Given the description of an element on the screen output the (x, y) to click on. 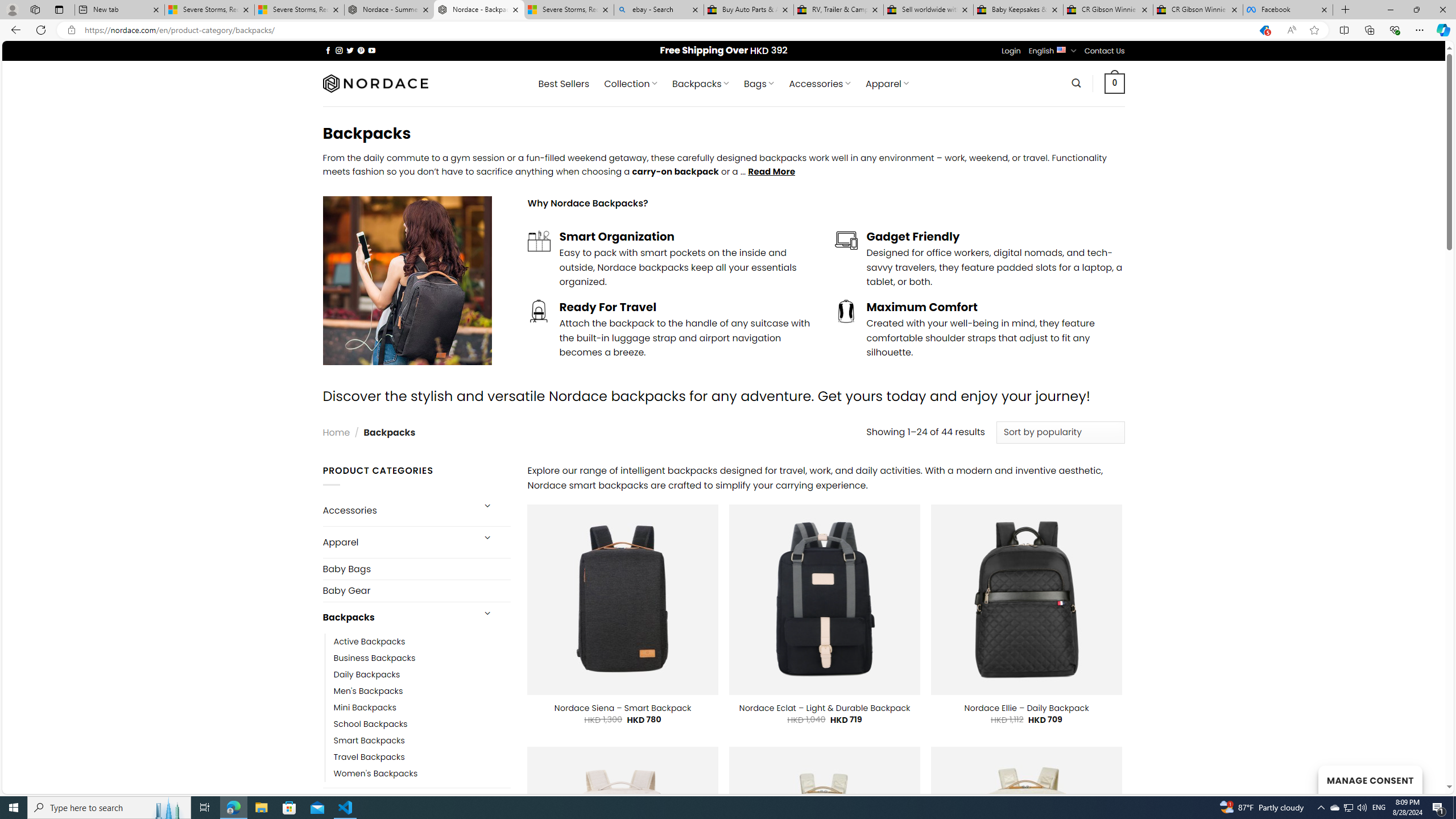
MANAGE CONSENT (1369, 779)
Smart Backpacks (422, 740)
Men's Backpacks (422, 690)
Accessories (397, 510)
School Backpacks (422, 723)
Nordace - Backpacks (478, 9)
Bags (397, 803)
Backpacks (397, 617)
Baby Gear (416, 590)
Business Backpacks (422, 657)
Daily Backpacks (366, 674)
